Given the description of an element on the screen output the (x, y) to click on. 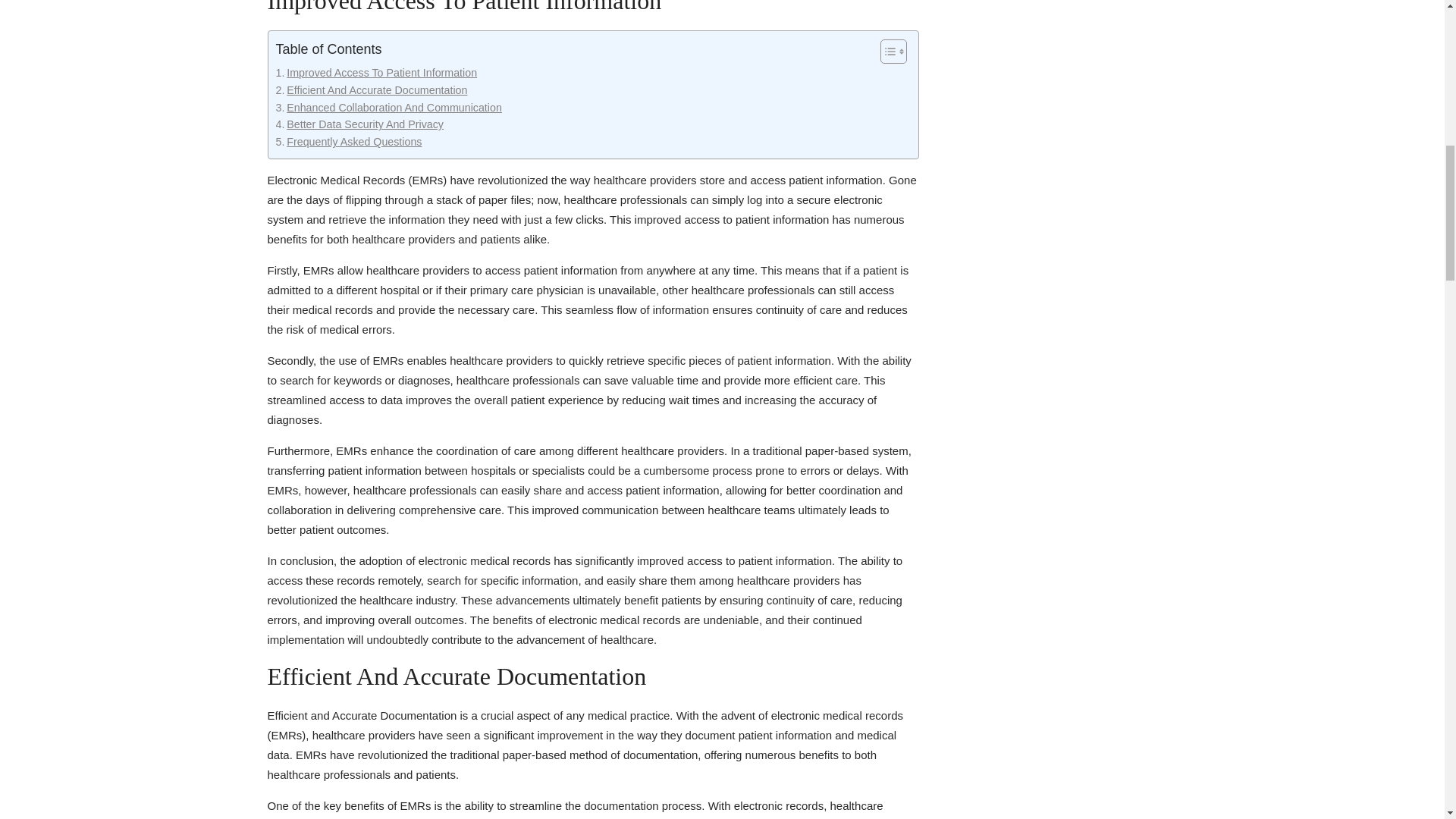
Better Data Security And Privacy (360, 124)
Efficient And Accurate Documentation (371, 90)
Better Data Security And Privacy (360, 124)
Frequently Asked Questions (349, 141)
Enhanced Collaboration And Communication (389, 108)
Efficient And Accurate Documentation (371, 90)
Improved Access To Patient Information (376, 72)
Enhanced Collaboration And Communication (389, 108)
Improved Access To Patient Information (376, 72)
Frequently Asked Questions (349, 141)
